Given the description of an element on the screen output the (x, y) to click on. 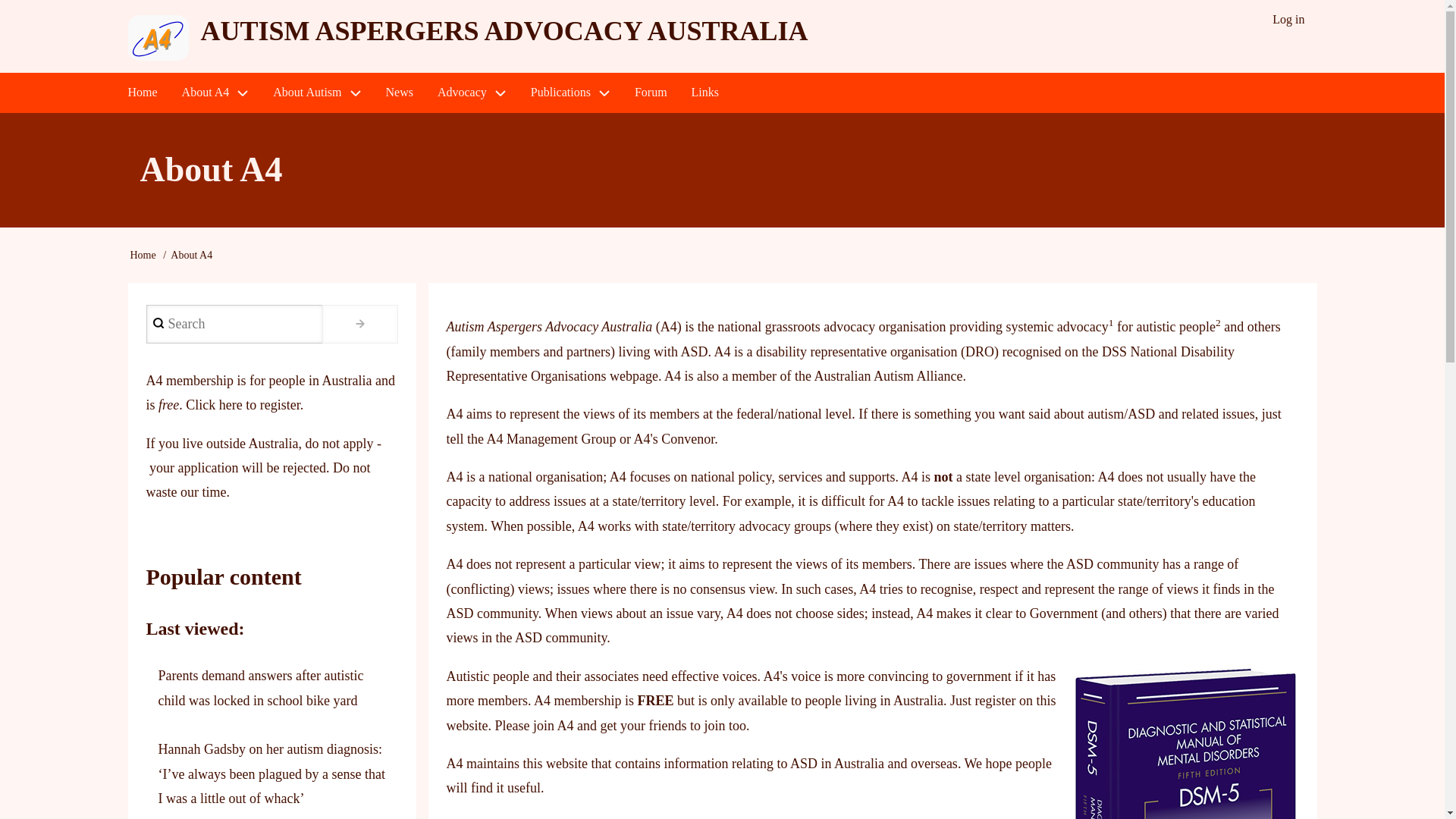
Home (504, 30)
Log in (1288, 20)
A list of news items (399, 92)
Click here to register (242, 404)
About A4 (216, 92)
News (399, 92)
Home (143, 255)
. (359, 323)
Home (141, 92)
Advocacy (471, 92)
. (359, 323)
Forum (651, 92)
Enter the terms you wish to search for. (233, 323)
. (359, 323)
